Given the description of an element on the screen output the (x, y) to click on. 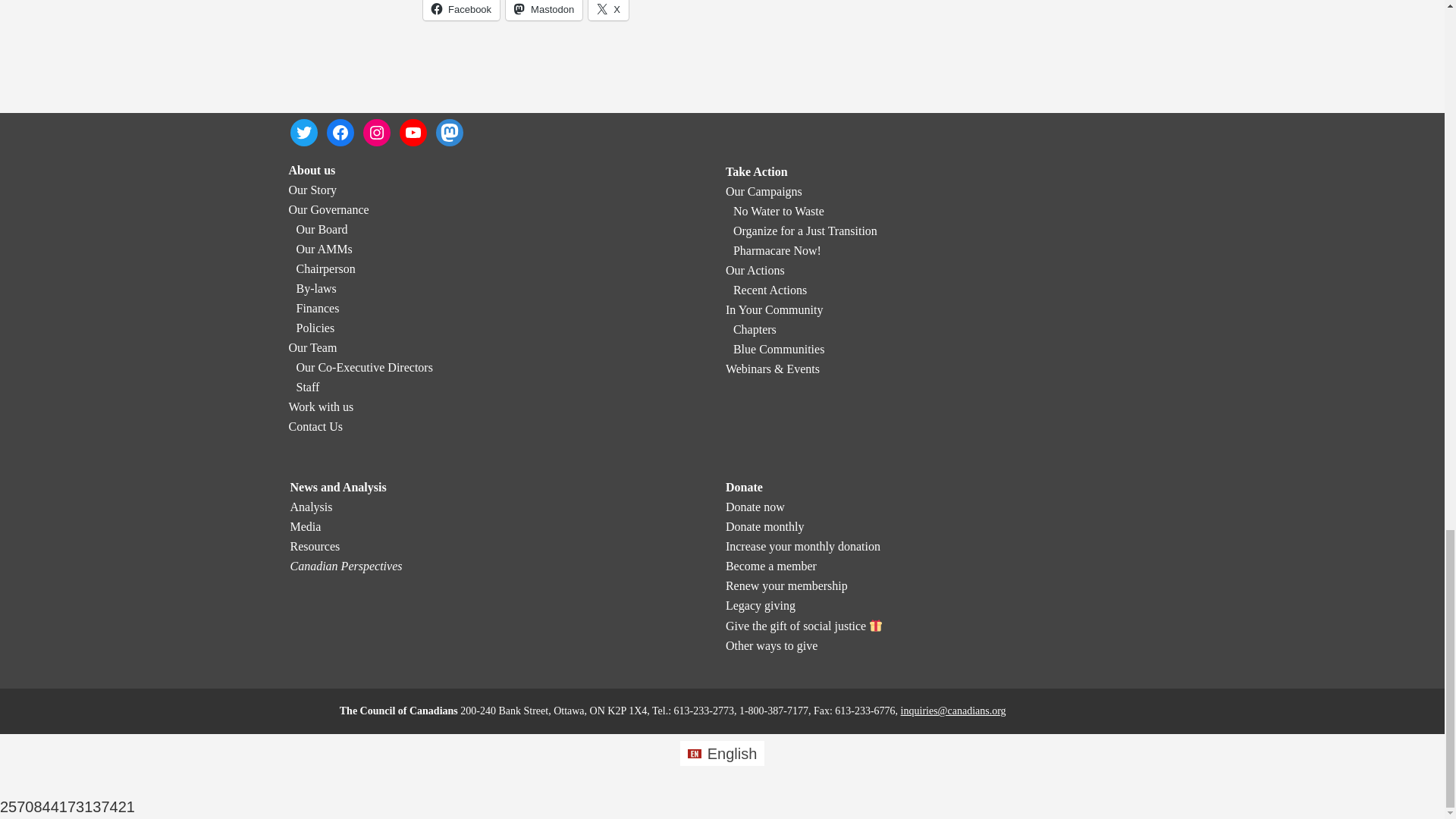
Mastodon (543, 10)
Our Board (321, 228)
Our Governance (328, 209)
About us (311, 169)
X (608, 10)
Click to share on Facebook (461, 10)
Our Story (312, 189)
Click to share on Mastodon (543, 10)
Click to share on X (608, 10)
Our AMMs (323, 248)
Facebook (461, 10)
